Given the description of an element on the screen output the (x, y) to click on. 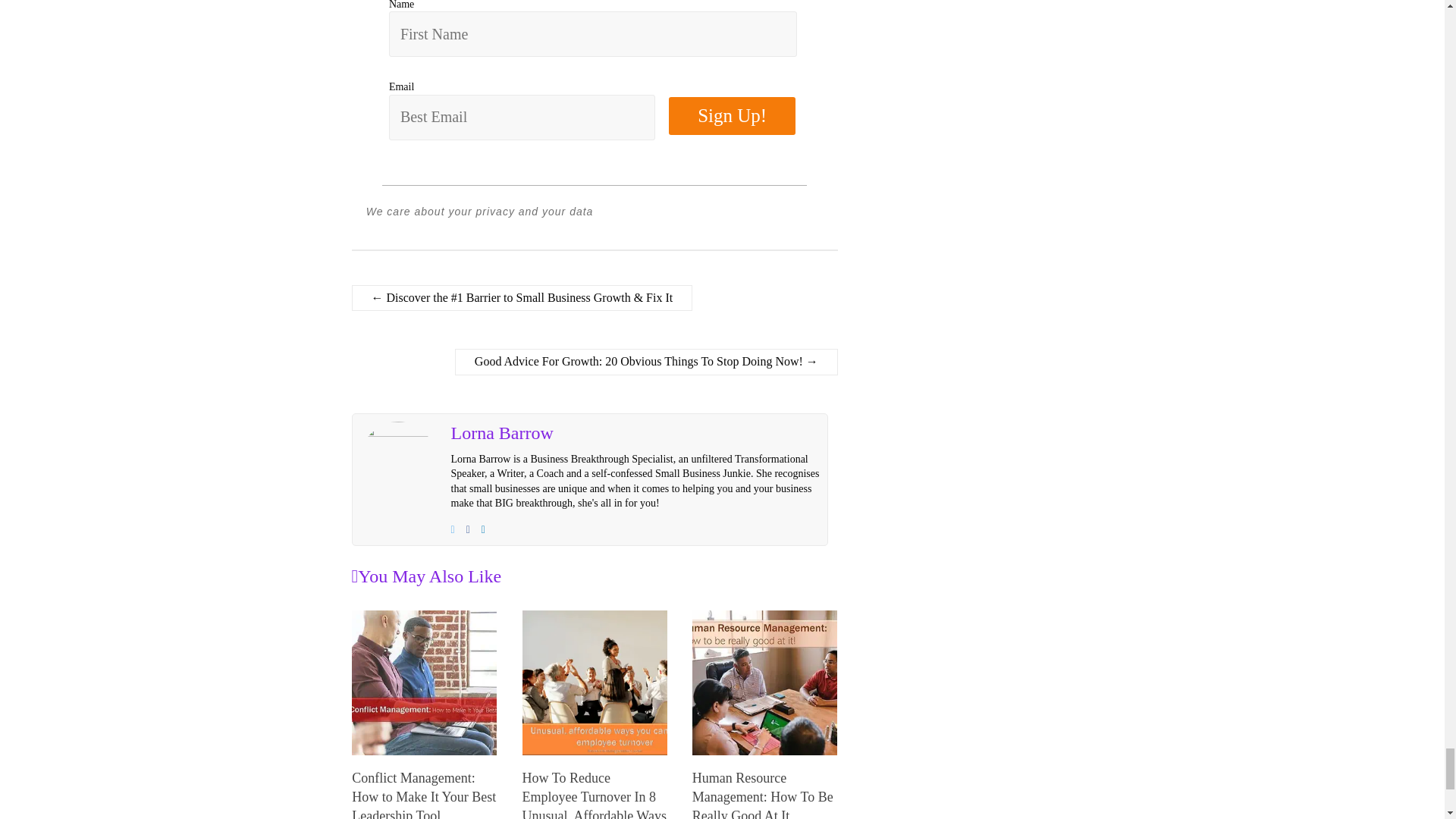
Human Resource Management: How To Be Really Good At It (762, 794)
Human Resource Management: How To Be Really Good At It (765, 682)
Human Resource Management: How To Be Really Good At It (765, 617)
